Given the description of an element on the screen output the (x, y) to click on. 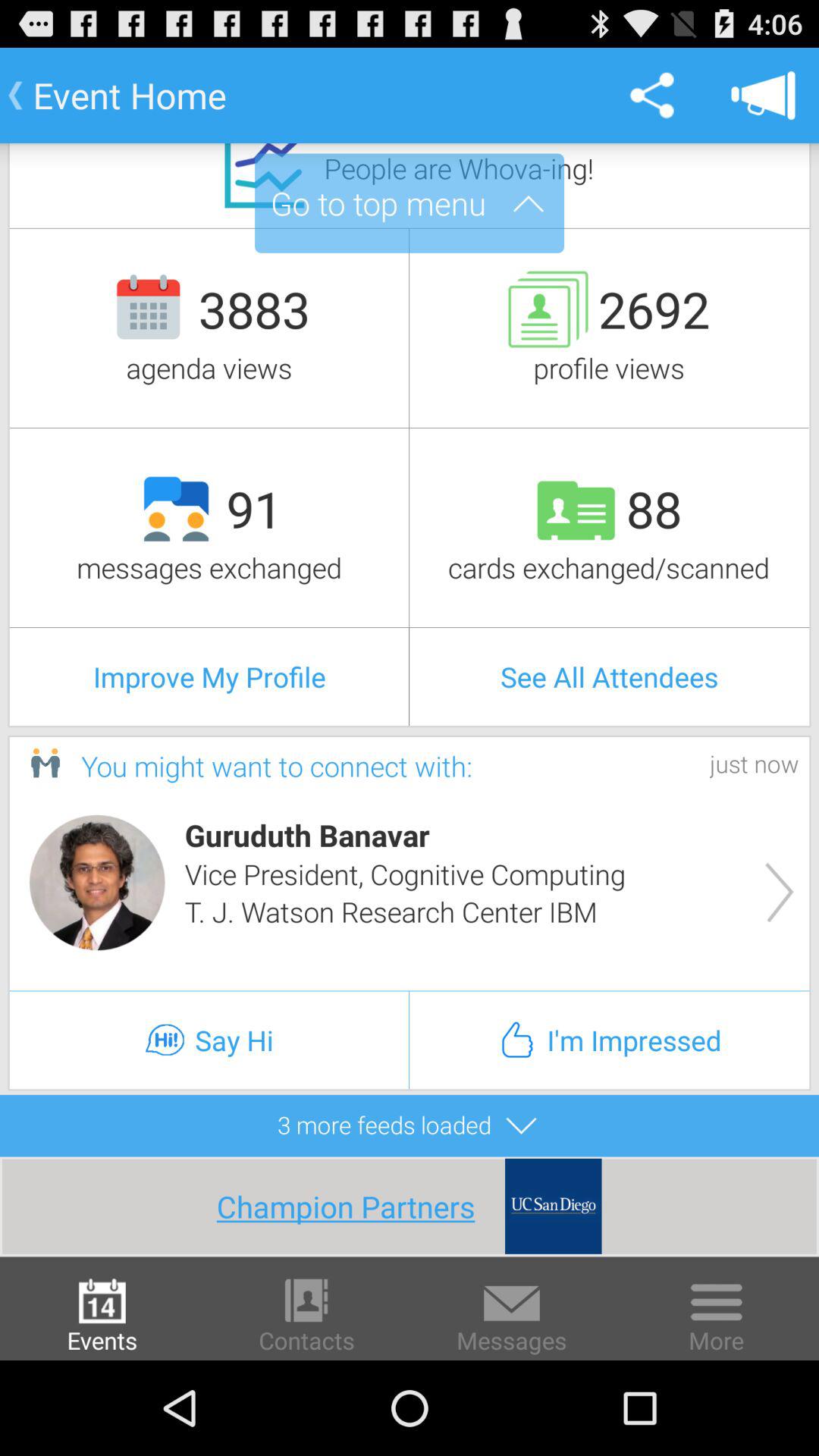
open icon above people are whova app (651, 95)
